Given the description of an element on the screen output the (x, y) to click on. 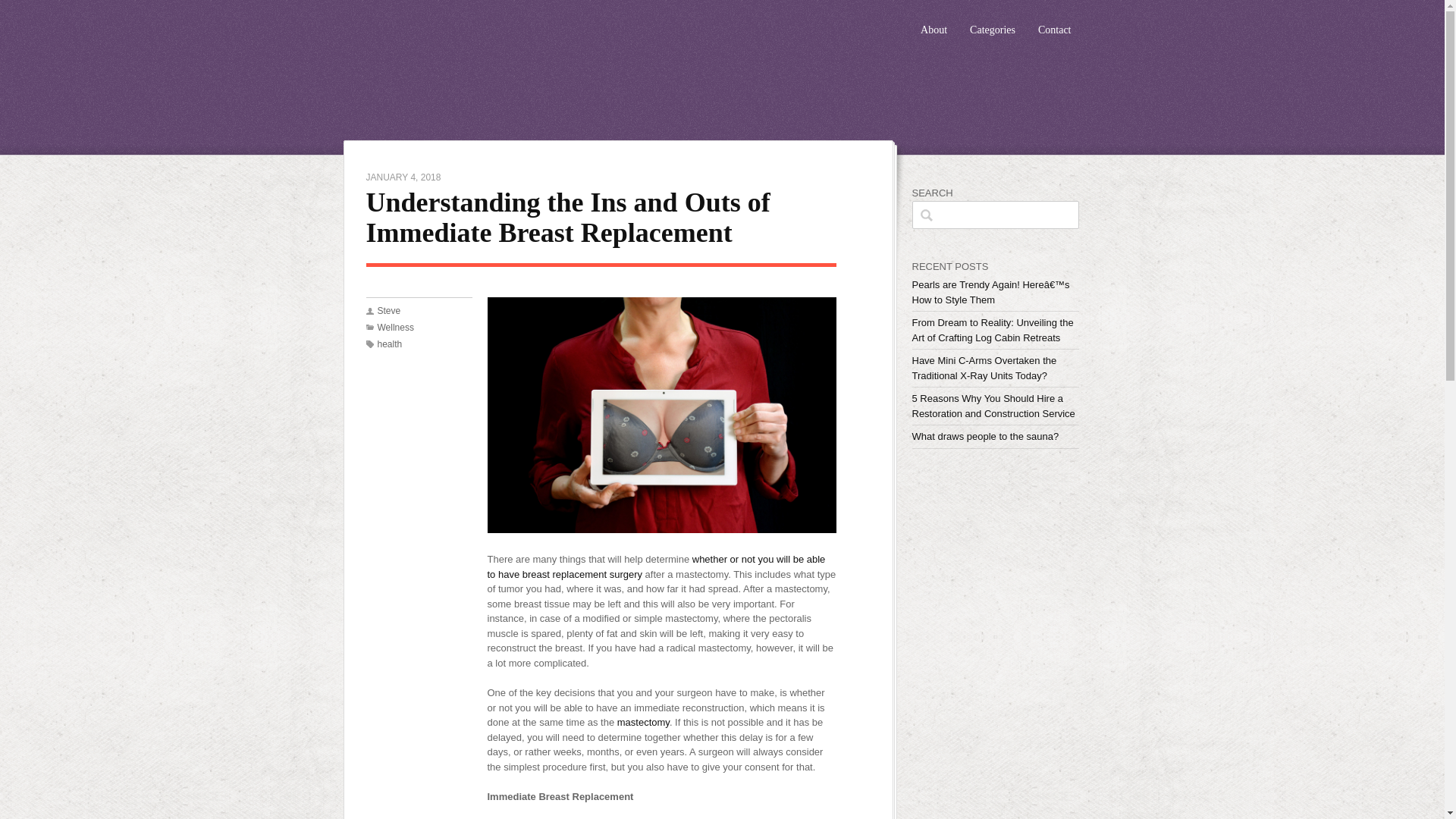
Steve (389, 310)
Categories (992, 22)
Wellness (395, 327)
Little Yayas (513, 63)
About (933, 22)
Little Yayas (513, 63)
Contact (1054, 22)
mastectomy (643, 722)
health (390, 344)
